Given the description of an element on the screen output the (x, y) to click on. 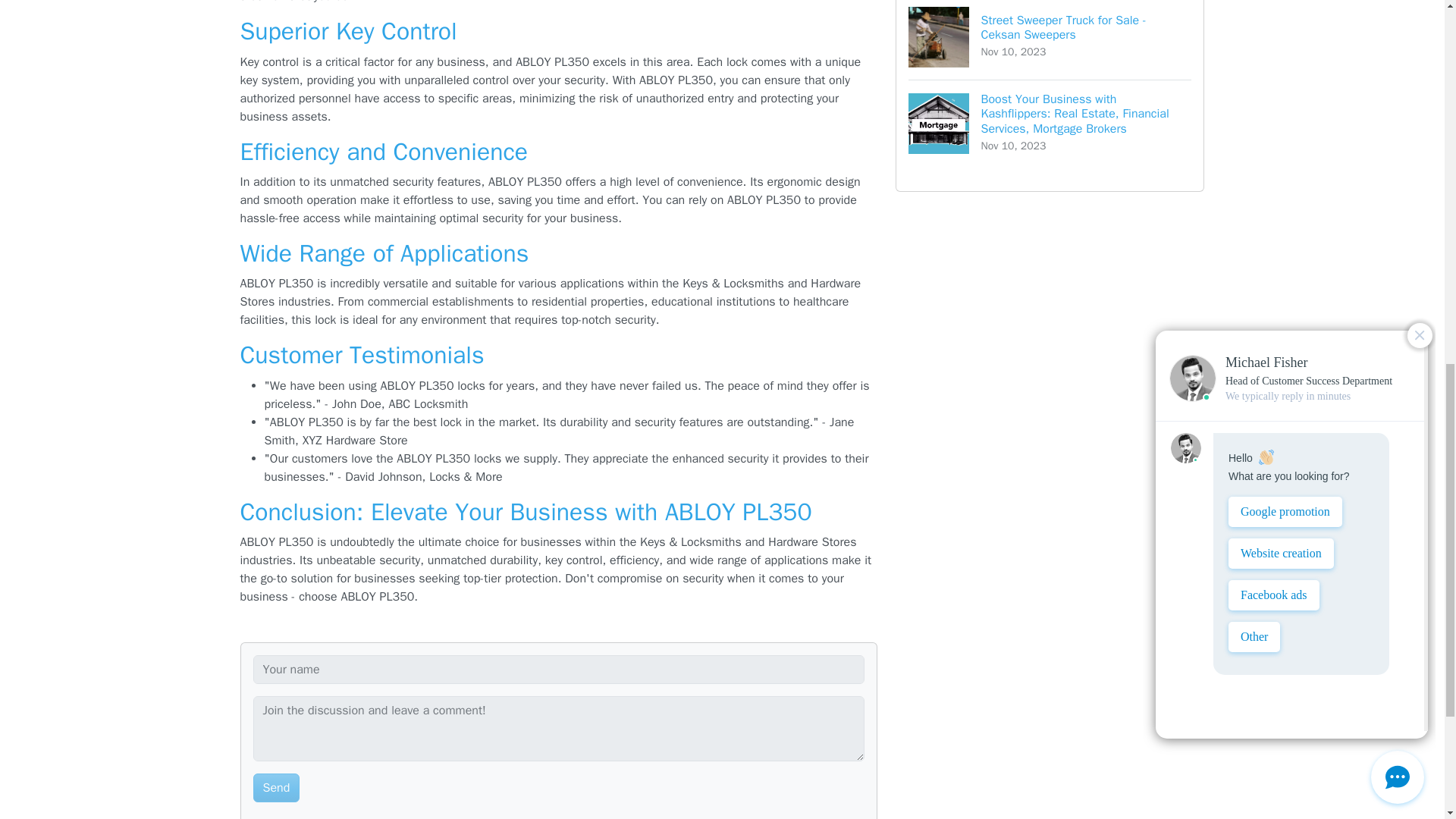
Send (1050, 39)
Send (276, 787)
